Given the description of an element on the screen output the (x, y) to click on. 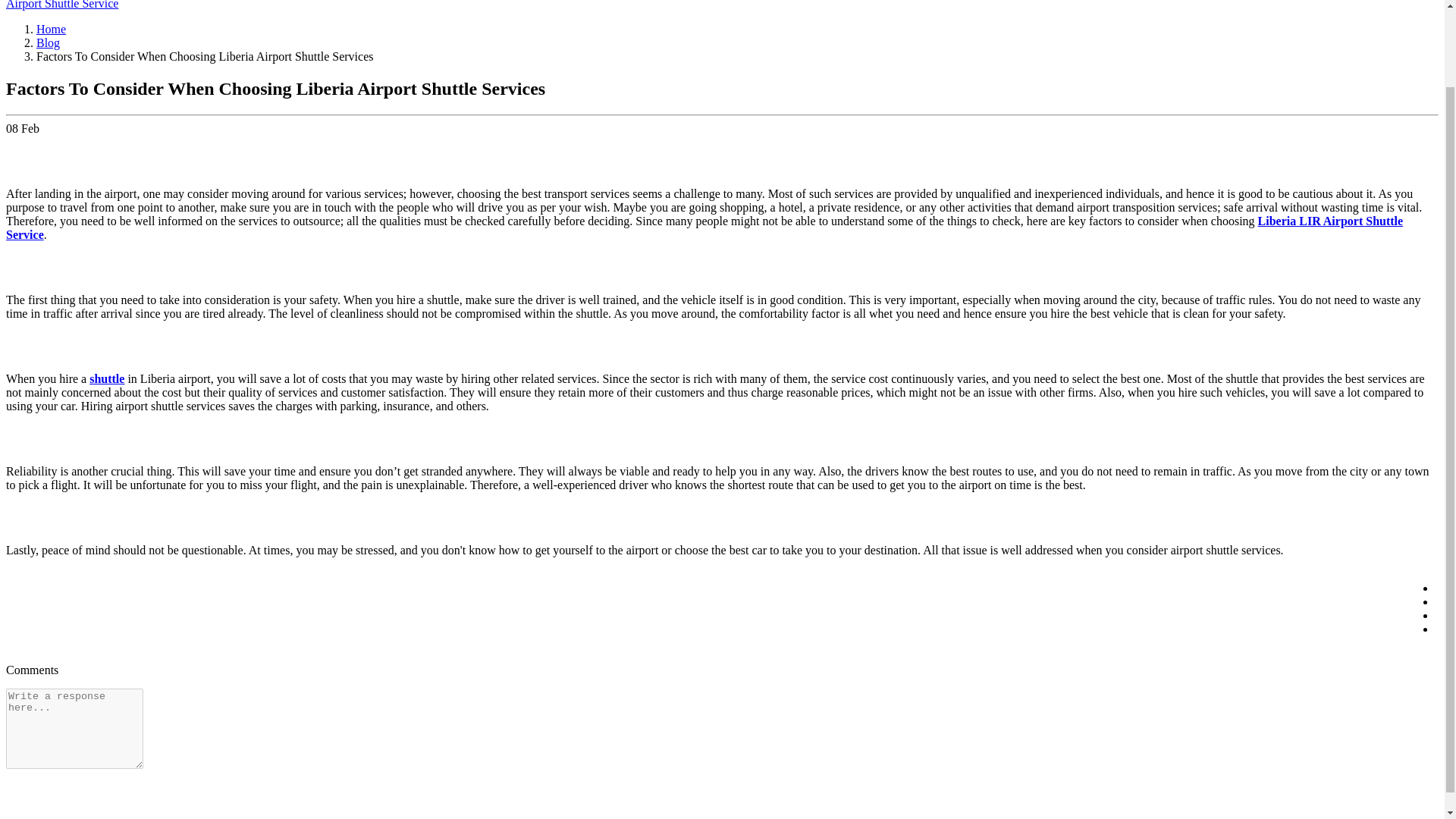
Liberia LIR Airport Shuttle Service (704, 227)
Airport Shuttle Service (61, 4)
shuttle (105, 378)
Blog (47, 42)
Home (50, 29)
